Given the description of an element on the screen output the (x, y) to click on. 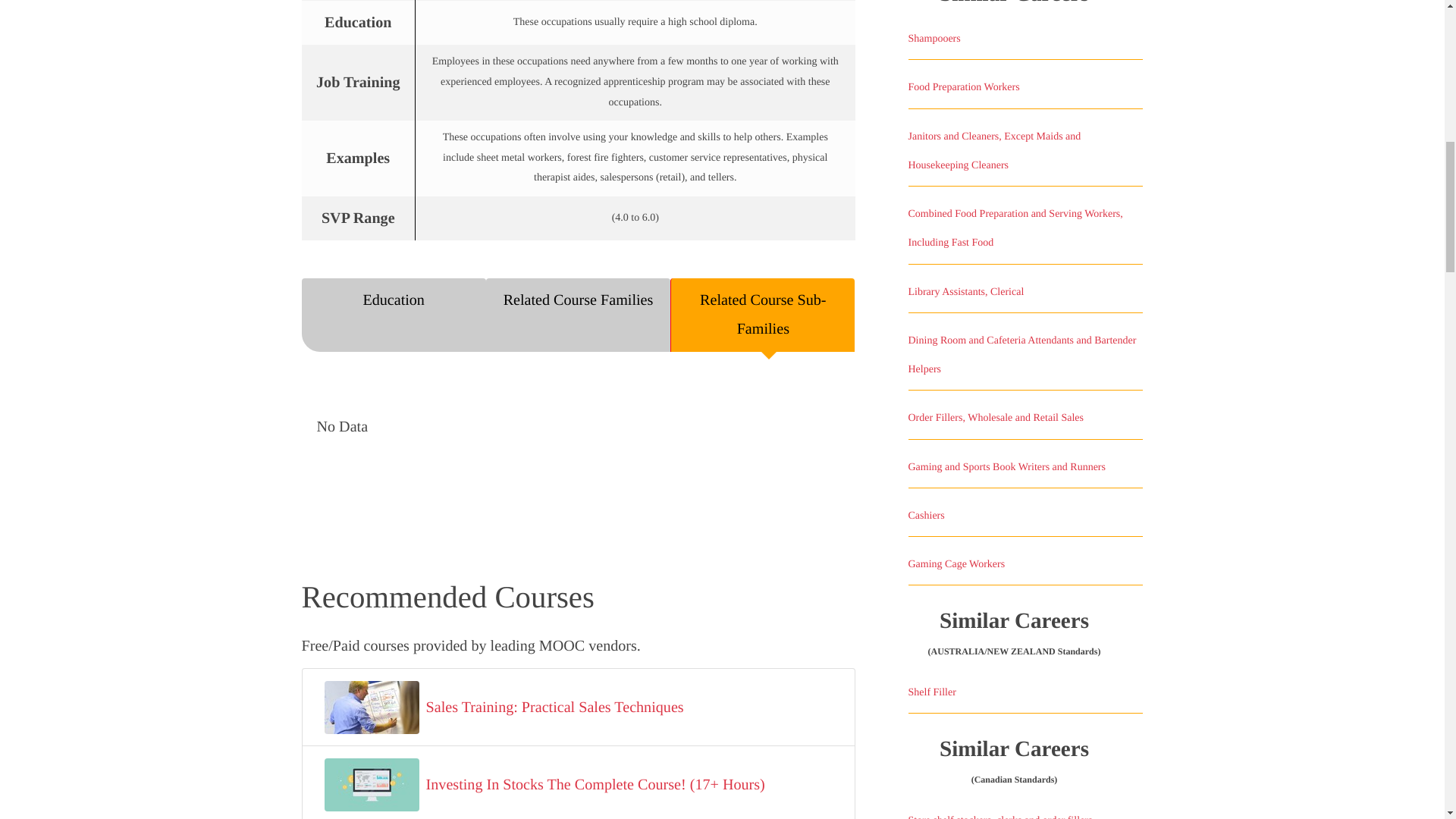
Related Course Sub-Families (761, 314)
Sales Training: Practical Sales Techniques (555, 706)
Related Course Families (577, 314)
Education (393, 314)
